Given the description of an element on the screen output the (x, y) to click on. 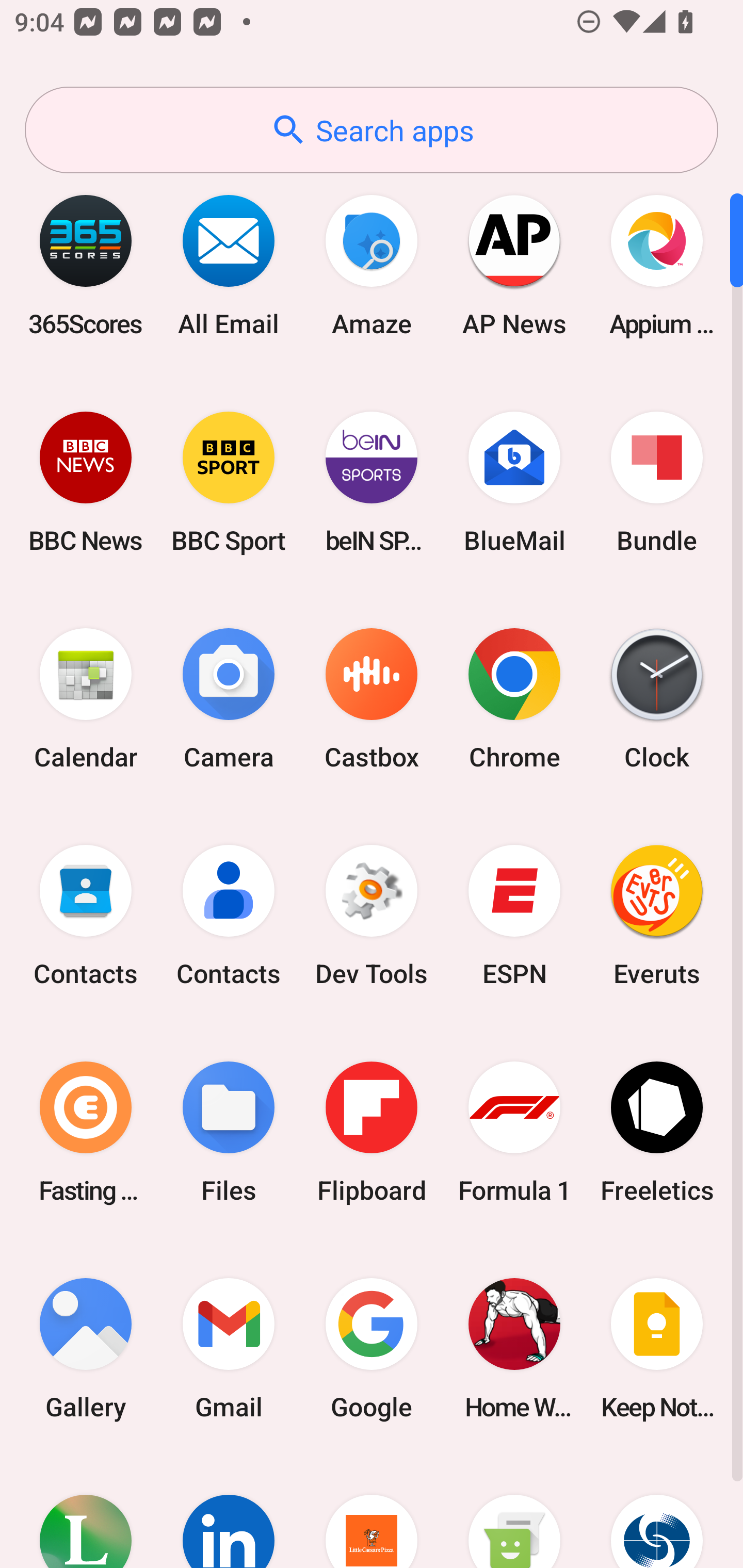
  Search apps (371, 130)
365Scores (85, 264)
All Email (228, 264)
Amaze (371, 264)
AP News (514, 264)
Appium Settings (656, 264)
BBC News (85, 482)
BBC Sport (228, 482)
beIN SPORTS (371, 482)
BlueMail (514, 482)
Bundle (656, 482)
Calendar (85, 699)
Camera (228, 699)
Castbox (371, 699)
Chrome (514, 699)
Clock (656, 699)
Contacts (85, 915)
Contacts (228, 915)
Dev Tools (371, 915)
ESPN (514, 915)
Everuts (656, 915)
Fasting Coach (85, 1131)
Files (228, 1131)
Flipboard (371, 1131)
Formula 1 (514, 1131)
Freeletics (656, 1131)
Gallery (85, 1348)
Gmail (228, 1348)
Google (371, 1348)
Home Workout (514, 1348)
Keep Notes (656, 1348)
